Given the description of an element on the screen output the (x, y) to click on. 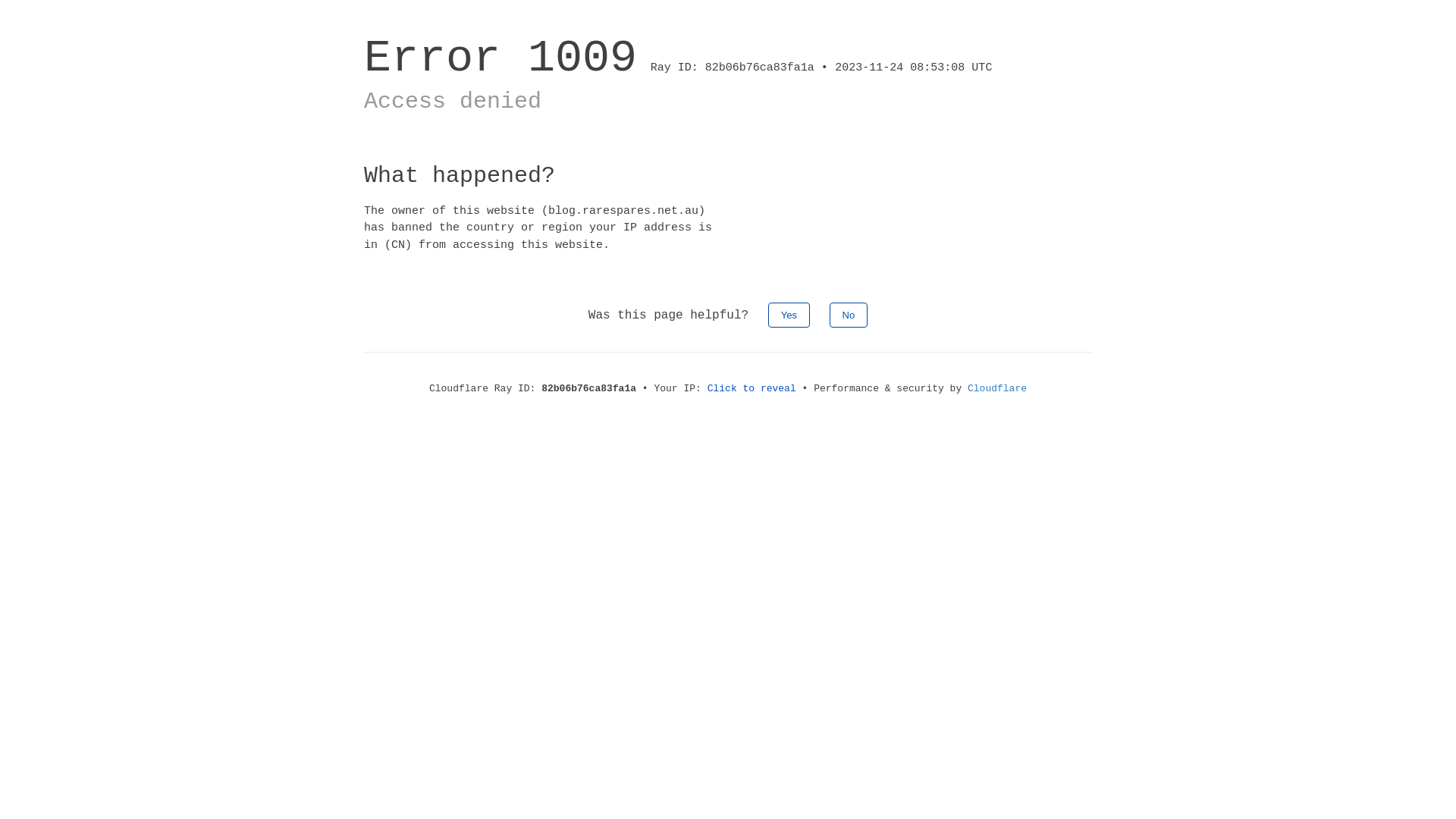
No Element type: text (848, 314)
Yes Element type: text (788, 314)
Click to reveal Element type: text (751, 388)
Cloudflare Element type: text (996, 388)
